Given the description of an element on the screen output the (x, y) to click on. 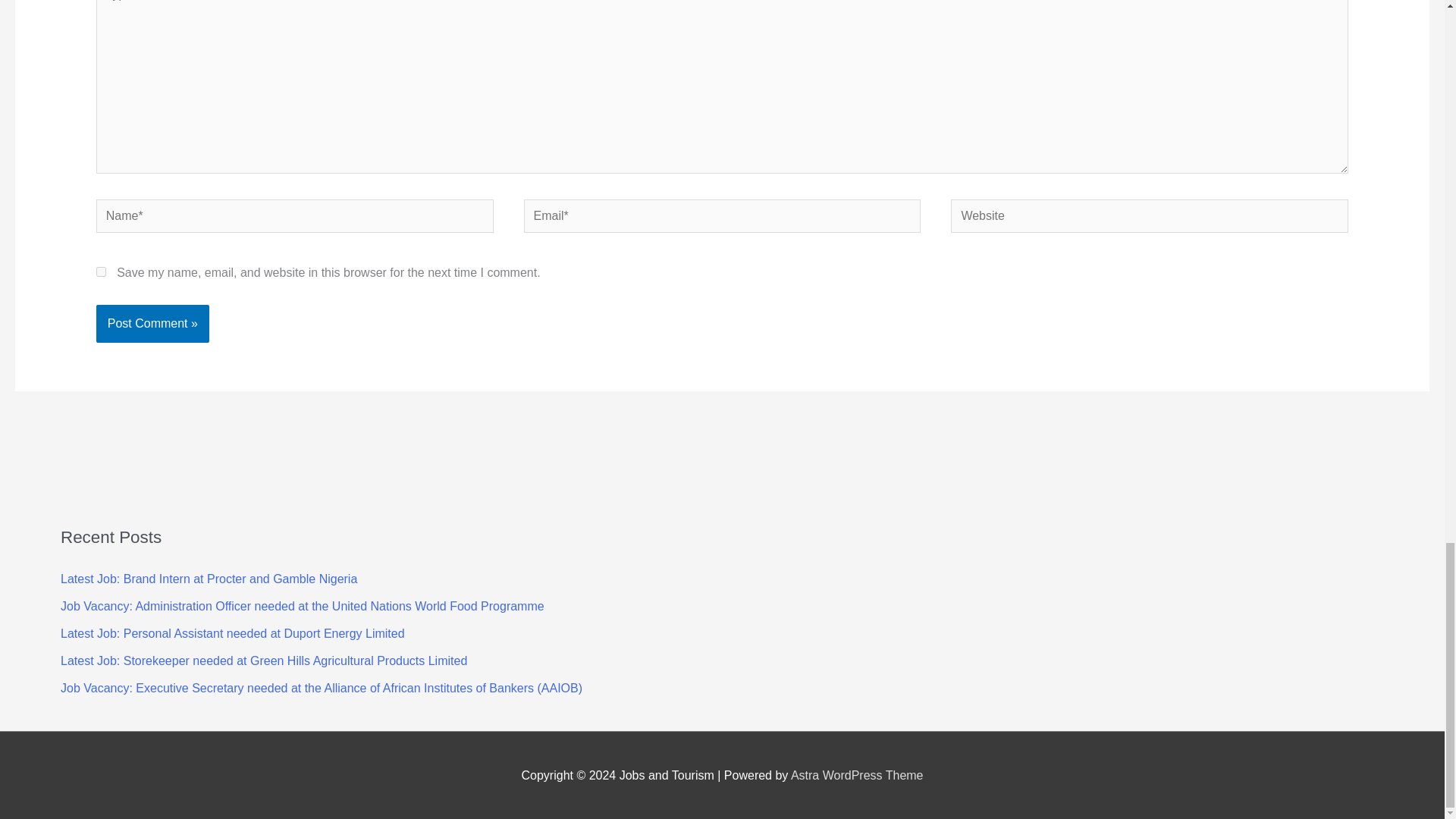
Astra WordPress Theme (856, 775)
yes (101, 271)
Latest Job: Brand Intern at Procter and Gamble Nigeria (208, 578)
